Given the description of an element on the screen output the (x, y) to click on. 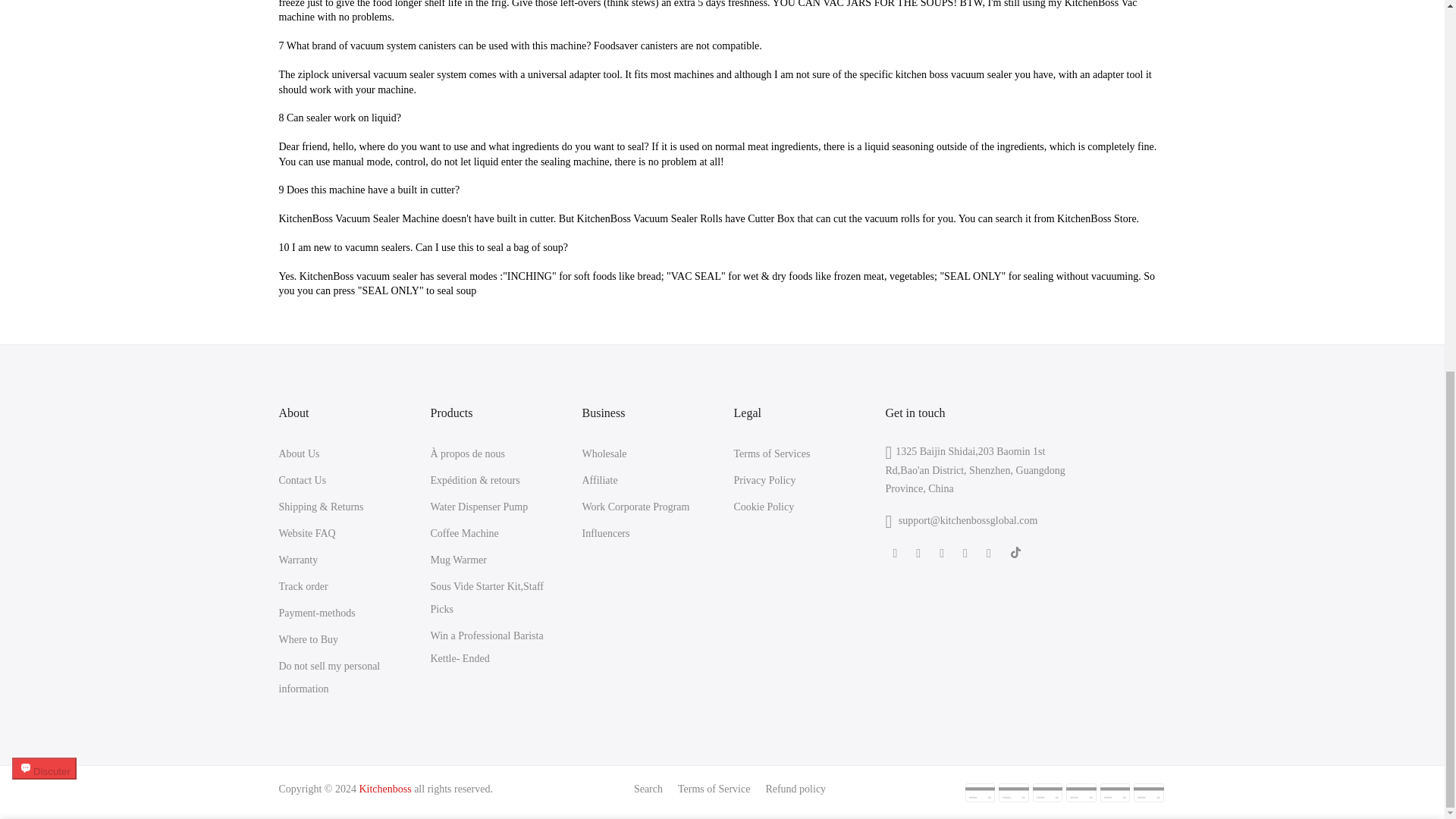
Mug Warmer (458, 559)
Water Dispenser Pump (479, 506)
Do not sell my personal information (329, 677)
Where to Buy (309, 639)
Warranty (298, 559)
Track order (304, 586)
Sous Vide Starter Kit,Staff Picks (487, 597)
About Us (299, 453)
Payment-methods (317, 613)
Win a Professional Barista Kettle- Ended (486, 646)
